Given the description of an element on the screen output the (x, y) to click on. 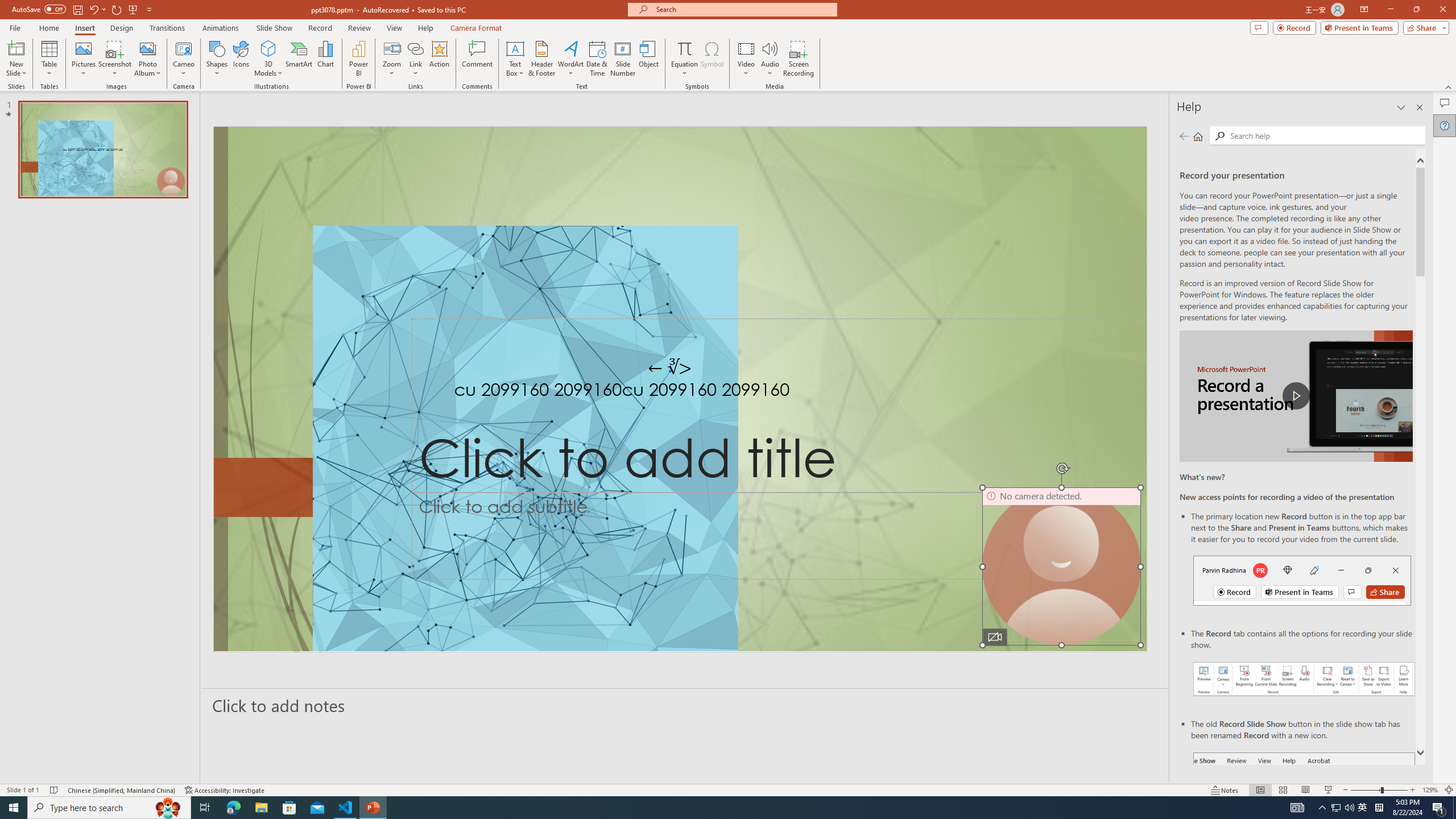
Video (745, 58)
play Record a Presentation (1296, 395)
